Given the description of an element on the screen output the (x, y) to click on. 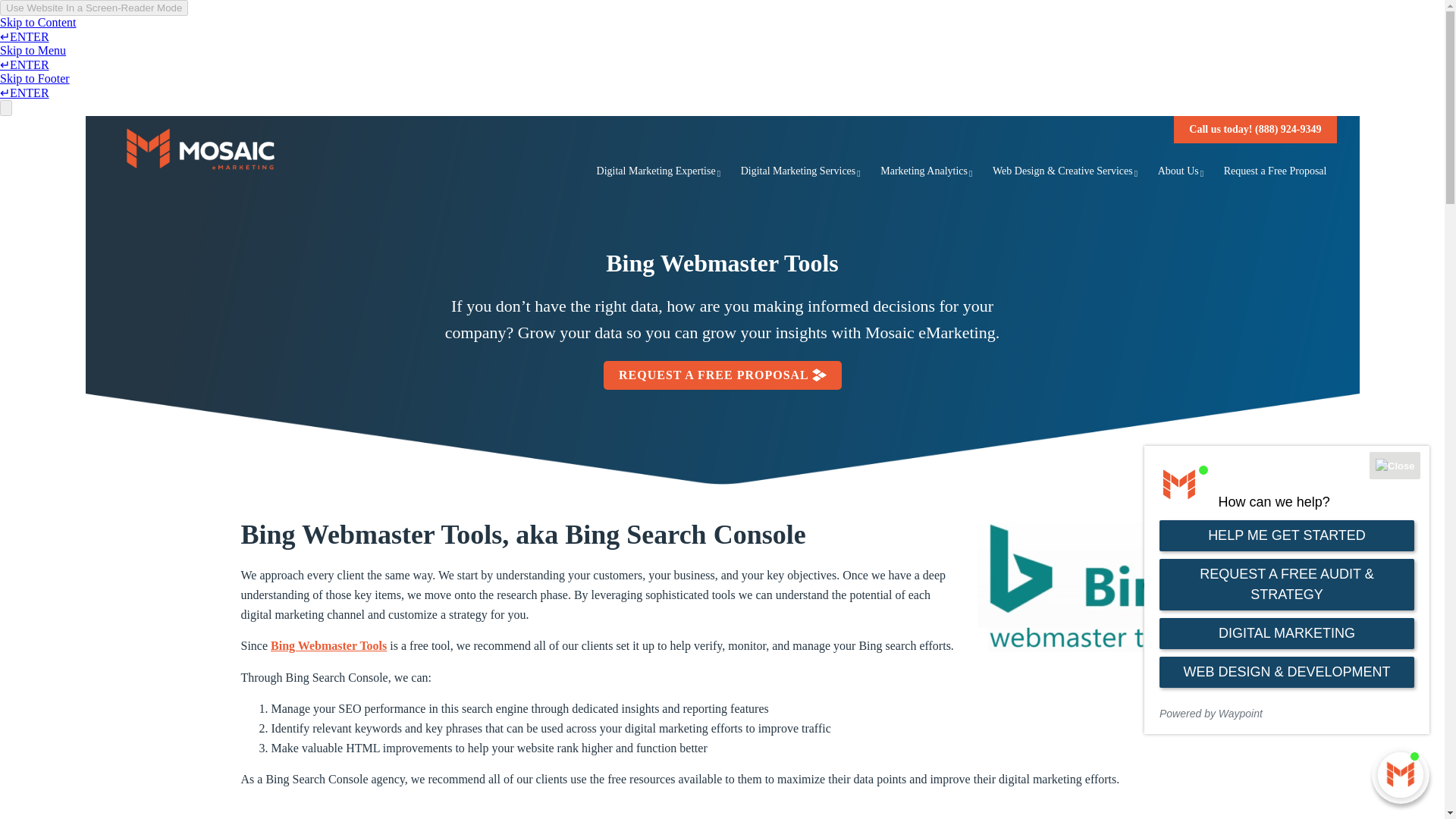
iframe (1286, 589)
Bing Webmaster Tools (328, 645)
